Given the description of an element on the screen output the (x, y) to click on. 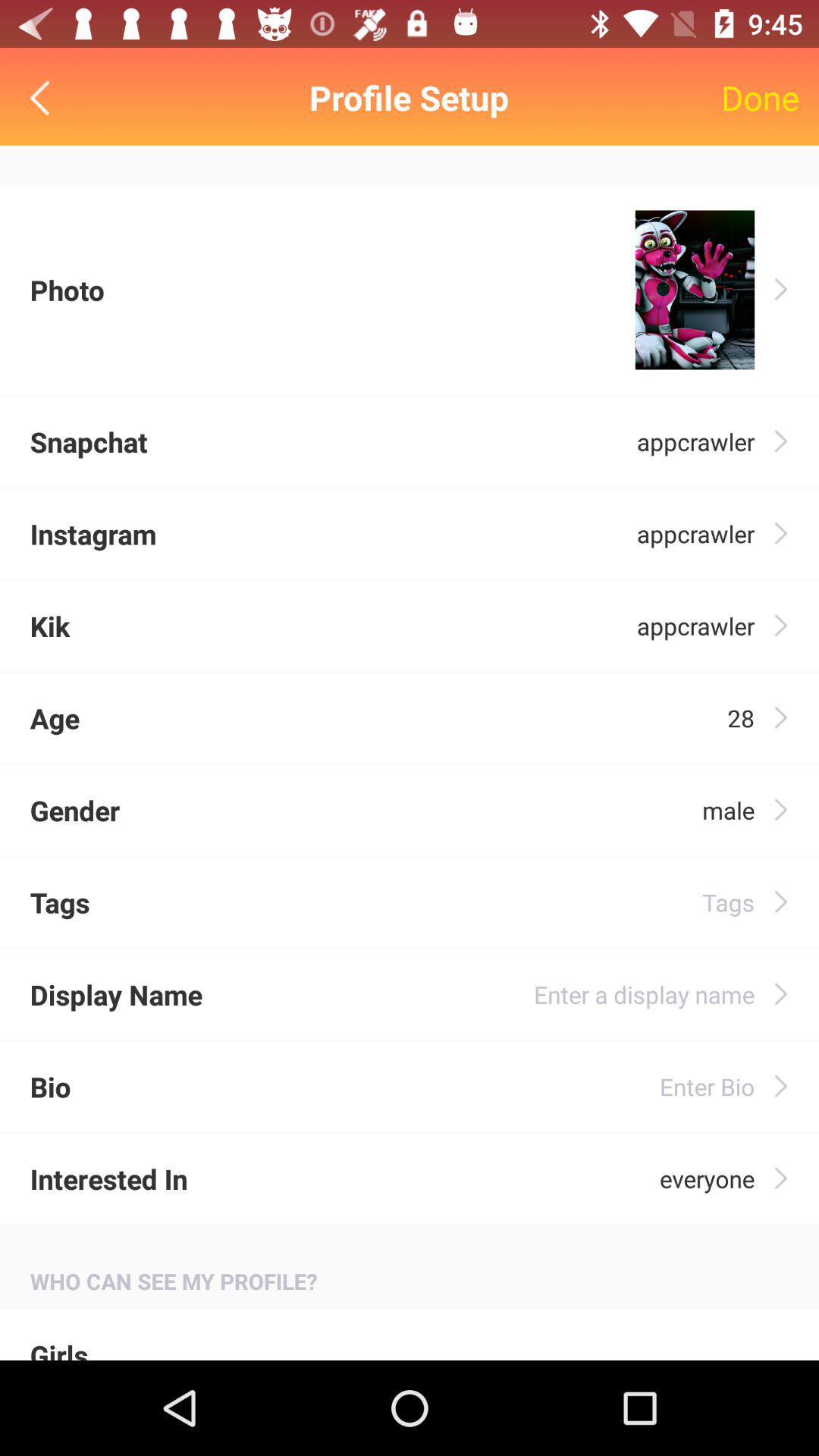
launch the item to the left of profile setup icon (43, 97)
